Given the description of an element on the screen output the (x, y) to click on. 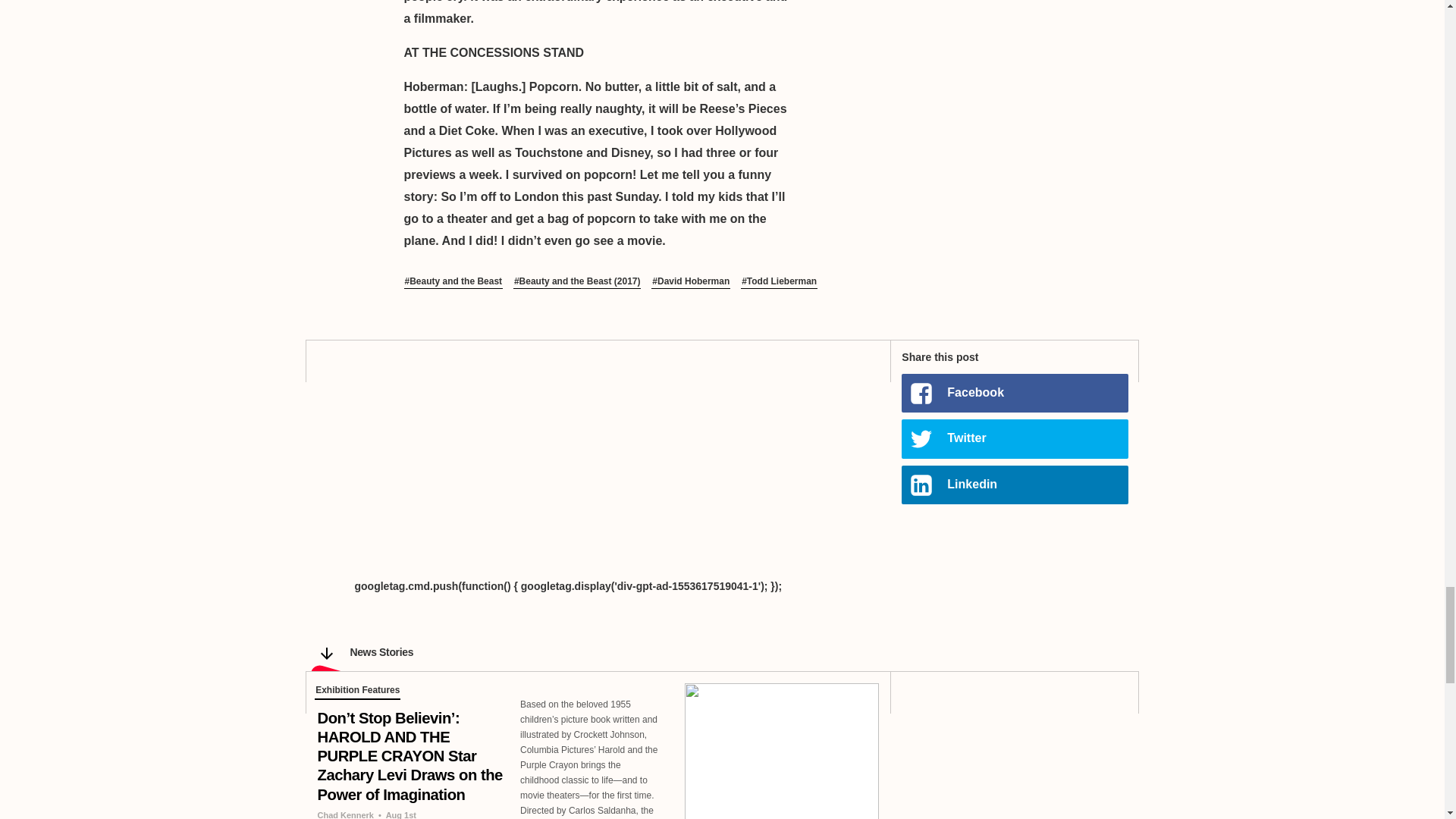
Beauty and the Beast (452, 282)
Twitter (1013, 438)
Linkedin (1013, 485)
David Hoberman (690, 282)
Todd Lieberman (778, 282)
Facebook (1013, 392)
Exhibition Features (357, 692)
